Given the description of an element on the screen output the (x, y) to click on. 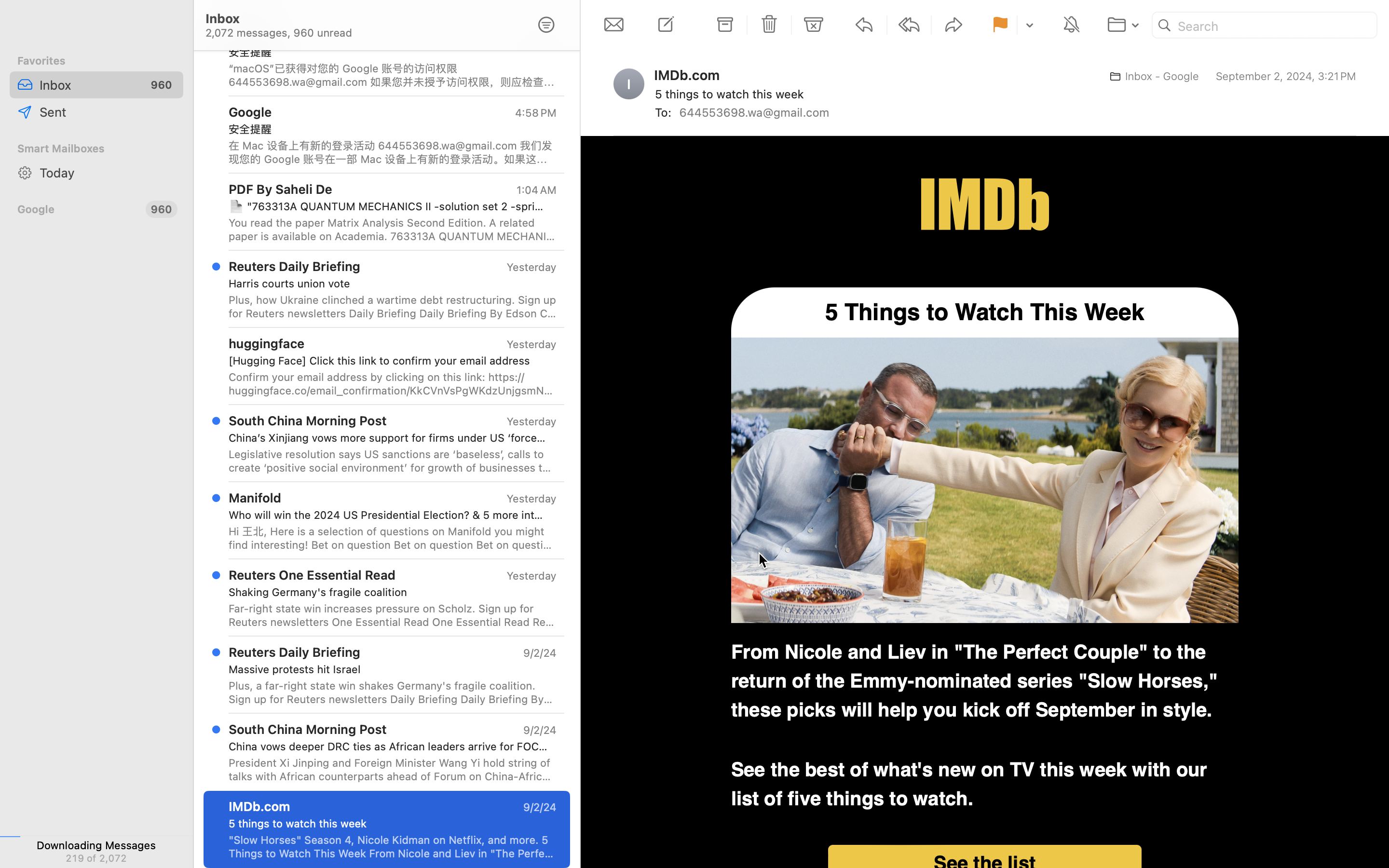
PDF By Saheli De Element type: AXStaticText (280, 188)
Plus, a far-right state win shakes Germany's fragile coalition. Sign up for Reuters newsletters Daily Briefing Daily Briefing By Edson Caldas Frustration is mounting over Israel's failure to secure a ceasefire deal that would free hostages. Today, we cover massive protests across the country and a general strike. Elsewhere, a far-right state win shakes Germany's fragile coalition, and a Russian missile attack rocks Kyiv and other parts of Ukraine. Plus, the latest from the Paris Paralympics. Today's Top News Hundreds of thousands protested across Israel on Sunday. REUTERS/Florion Goga War in Gaza Municipal services in several Israeli districts were disrupted today after the country's biggest labor union launched a general strike to pressure Prime Minister Benjamin Netanyahu into agreeing to a deal to bring Israeli hostages in Gaza home. Over the weekend, massive protests swept the country following the death of six hostages in Gaza. Crowds estimated by Israeli media to number up to 500 Element type: AXStaticText (392, 691)
5 things to watch this week Element type: AXStaticText (388, 823)
I Element type: AXStaticText (628, 83)
0 Element type: AXCheckBox (545, 25)
